Given the description of an element on the screen output the (x, y) to click on. 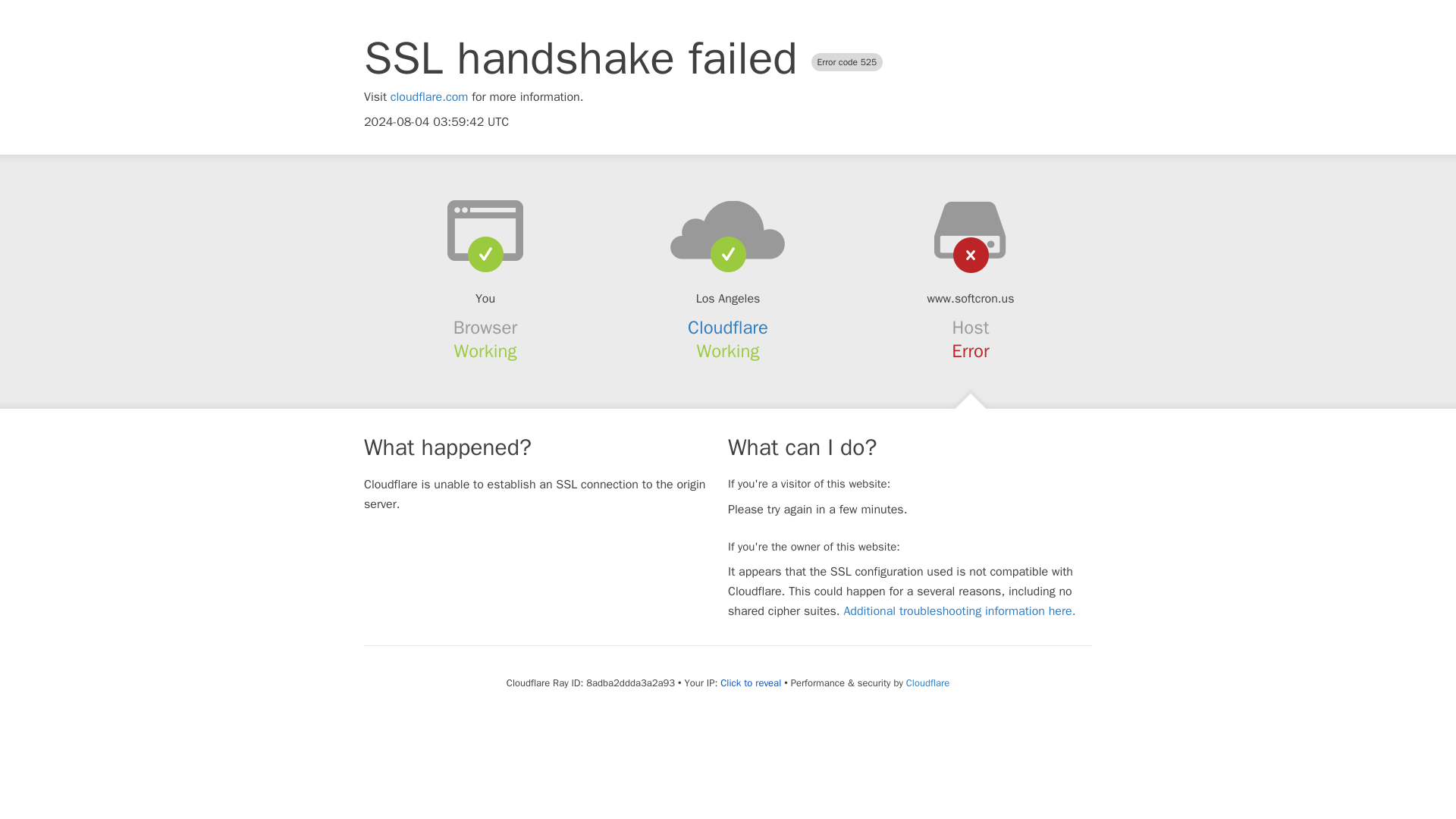
Click to reveal (750, 683)
Cloudflare (727, 327)
Cloudflare (927, 682)
Additional troubleshooting information here. (959, 611)
cloudflare.com (429, 96)
